Given the description of an element on the screen output the (x, y) to click on. 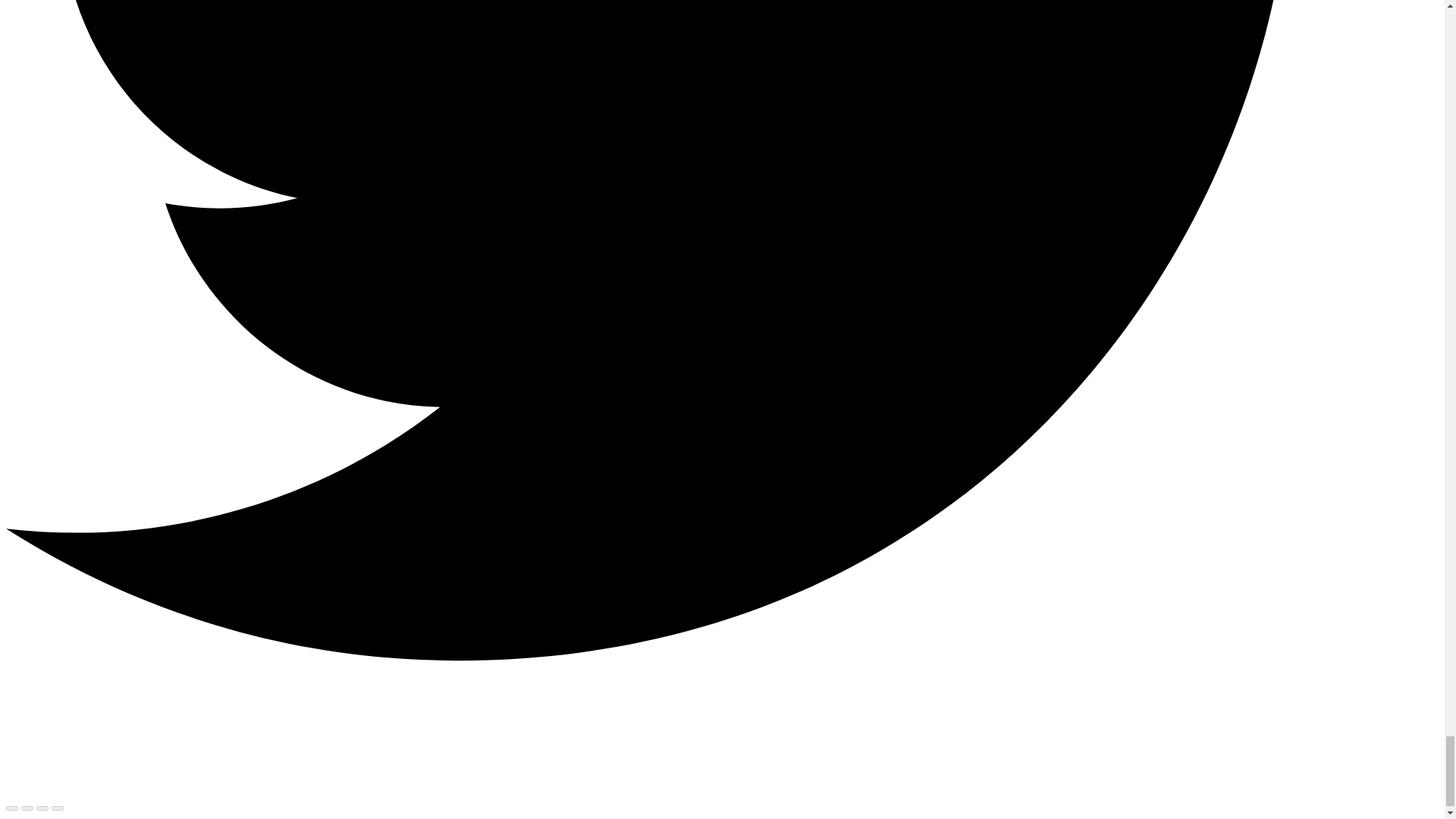
Share (27, 807)
Toggle fullscreen (42, 807)
